Given the description of an element on the screen output the (x, y) to click on. 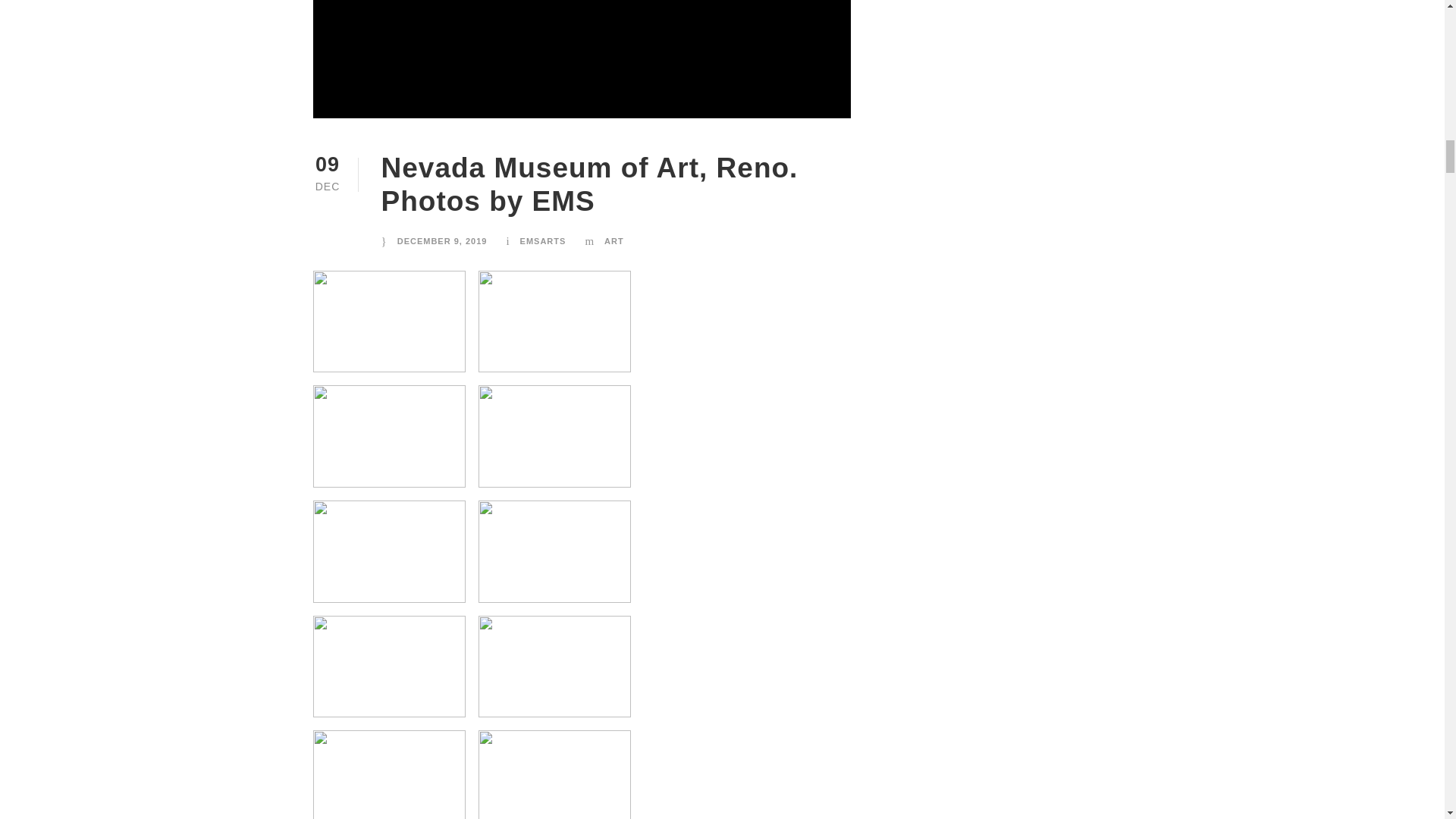
EMSARTS (542, 240)
ART (614, 240)
Nevada Museum of Art, Reno. Photos by EMS (588, 184)
Posts by emsarts (542, 240)
DECEMBER 9, 2019 (442, 240)
